Given the description of an element on the screen output the (x, y) to click on. 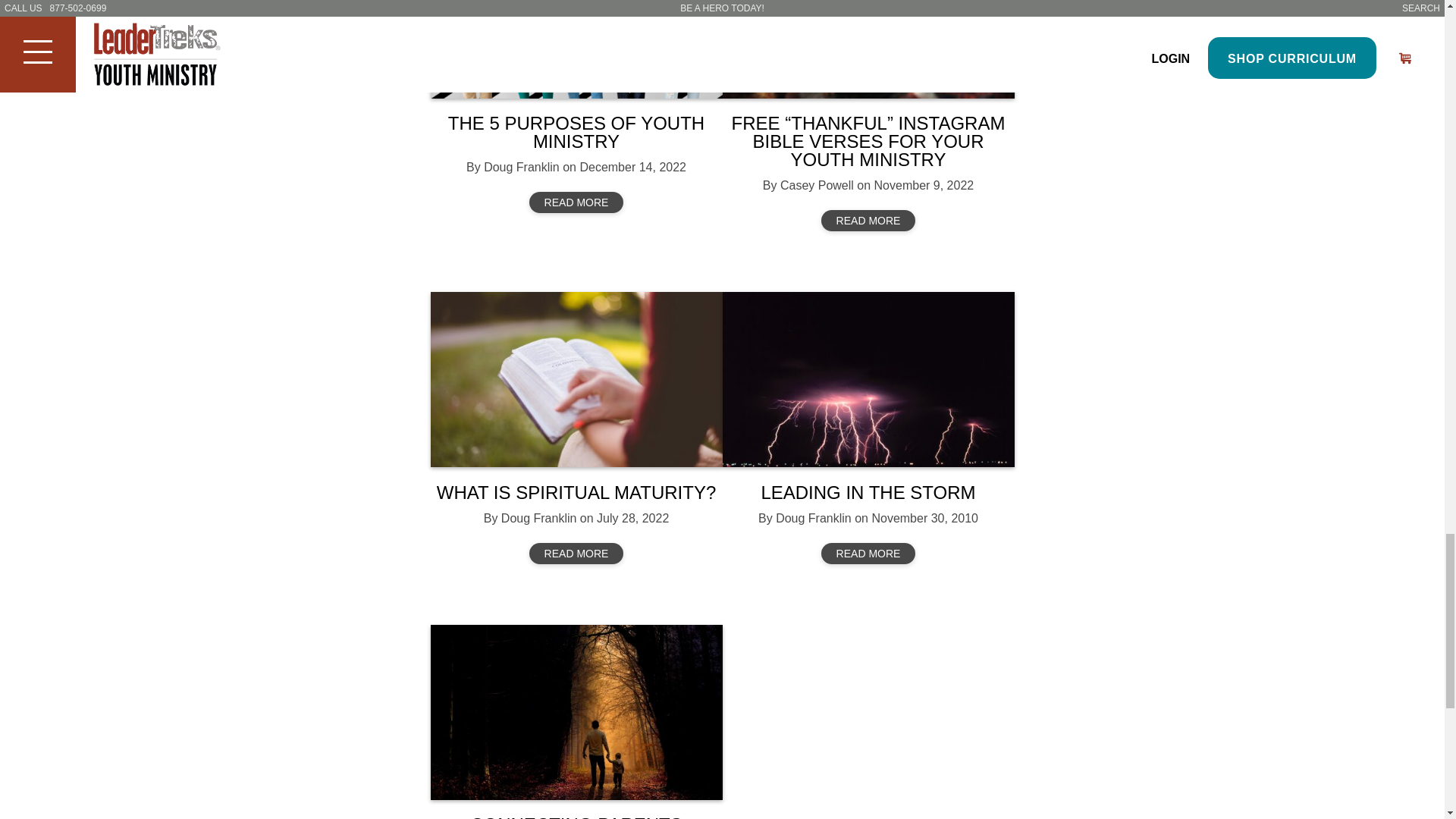
Connecting Parents (576, 712)
READ MORE (576, 201)
READ MORE (576, 553)
What is Spiritual Maturity? (576, 378)
Leading in the Storm (867, 378)
READ MORE (868, 219)
WHAT IS SPIRITUAL MATURITY? (576, 492)
THE 5 PURPOSES OF YOUTH MINISTRY (576, 132)
The 5 Purposes of Youth Ministry (576, 49)
